Given the description of an element on the screen output the (x, y) to click on. 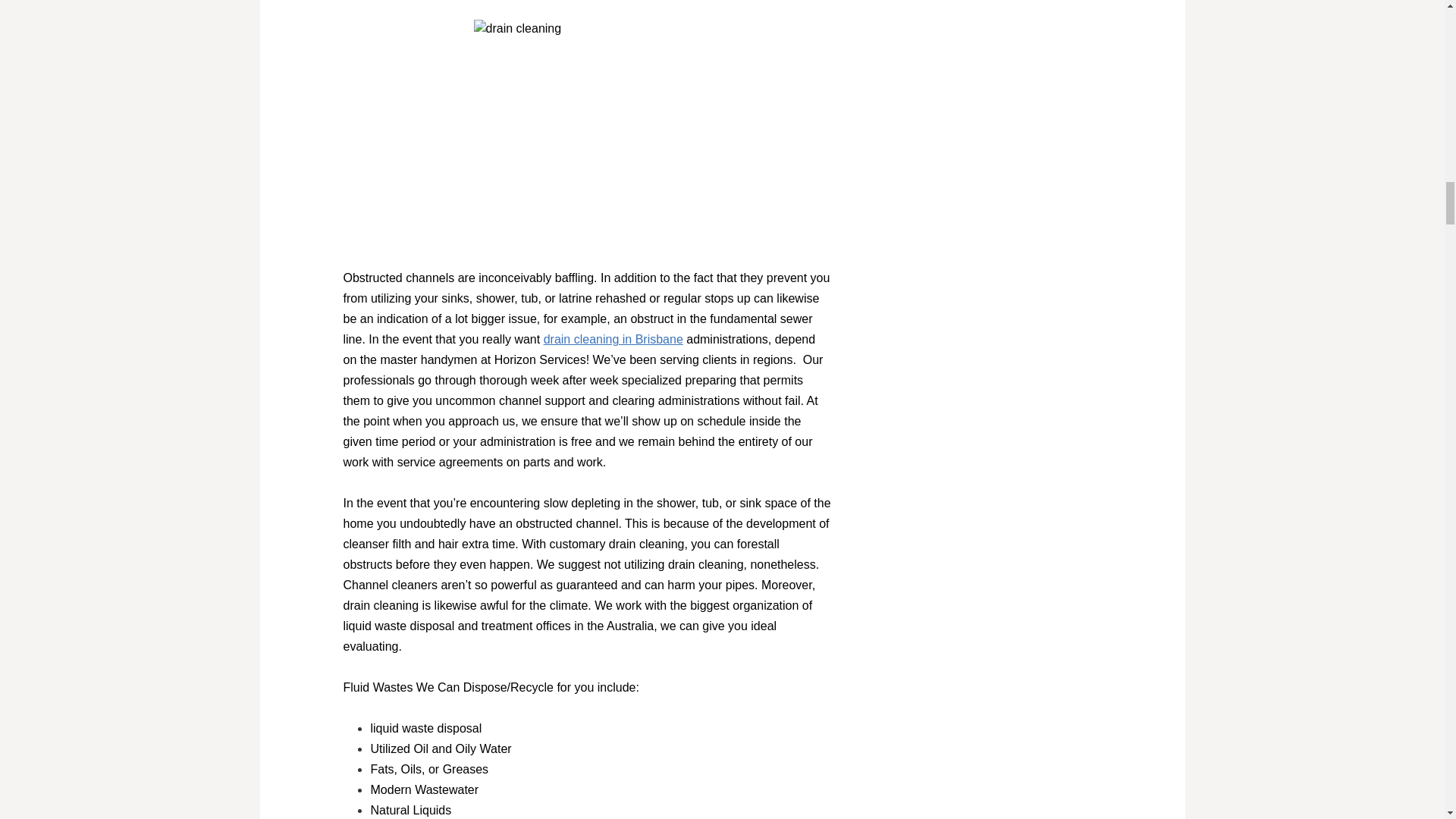
drain cleaning (586, 133)
drain cleaning in Brisbane (612, 338)
drain cleaning in Brisbane (612, 338)
